Given the description of an element on the screen output the (x, y) to click on. 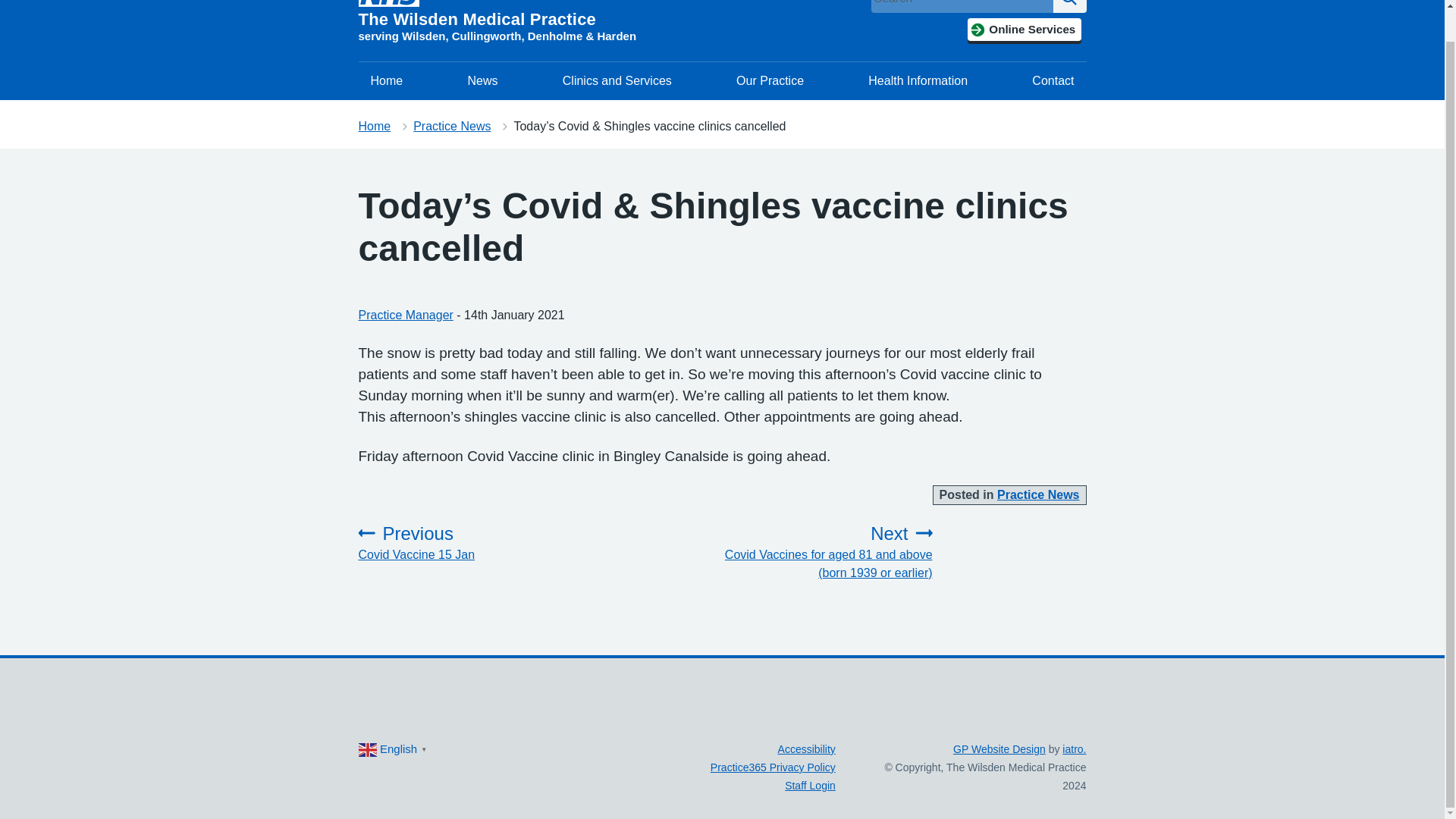
iatro. (1074, 748)
Home (386, 80)
GP Website Design (467, 542)
Practice News (999, 748)
Our Practice (1038, 494)
Home (769, 80)
Practice365 Privacy Policy (374, 125)
Accessibility (772, 767)
Online Services  (806, 748)
Practice Manager (1024, 29)
Search (405, 314)
Health Information (1069, 6)
News (917, 80)
Staff Login (481, 80)
